Given the description of an element on the screen output the (x, y) to click on. 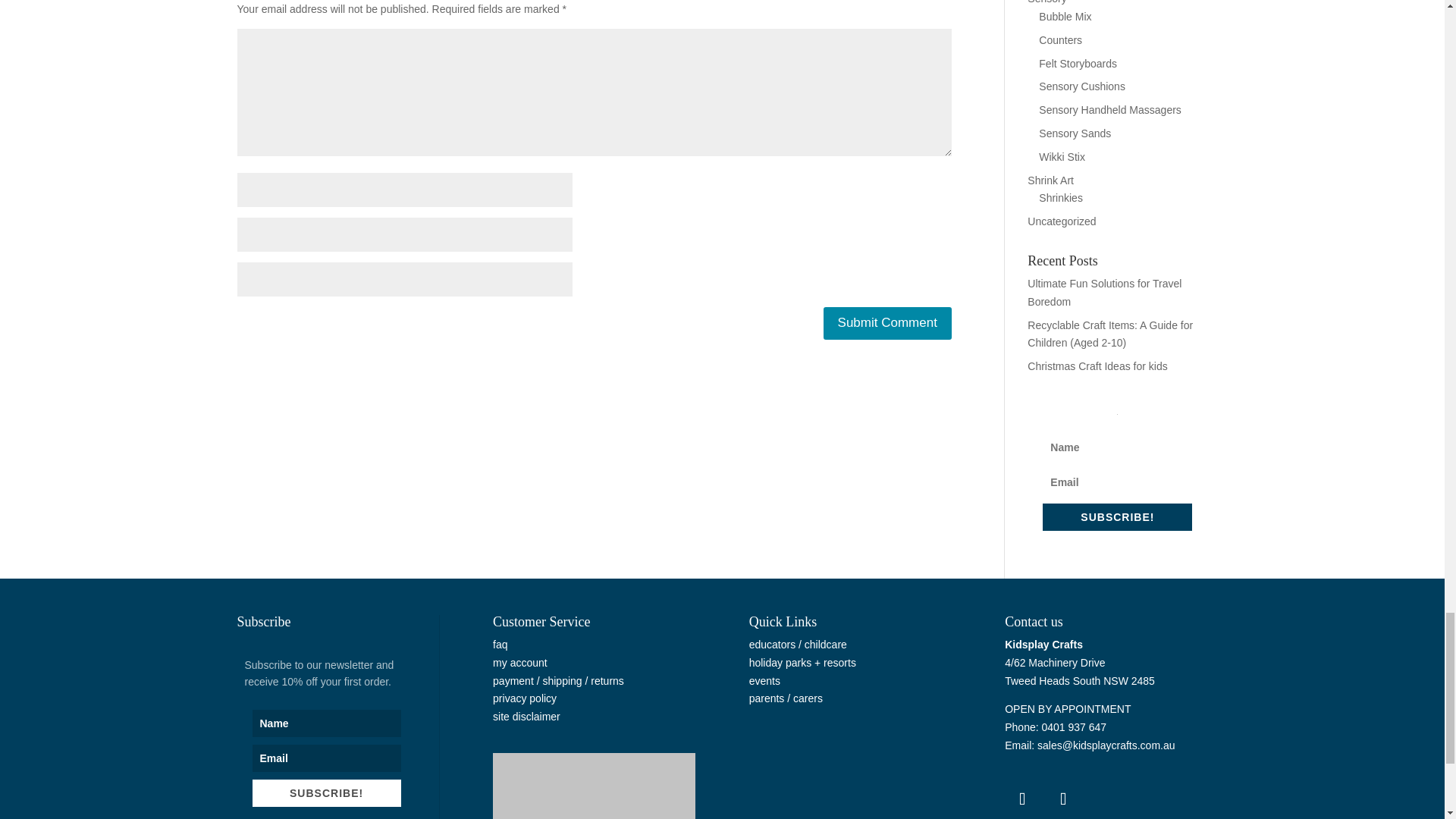
Follow on Instagram (1062, 799)
Powered by Stripe - blurple (594, 785)
Submit Comment (888, 323)
Follow on Facebook (1021, 799)
